Given the description of an element on the screen output the (x, y) to click on. 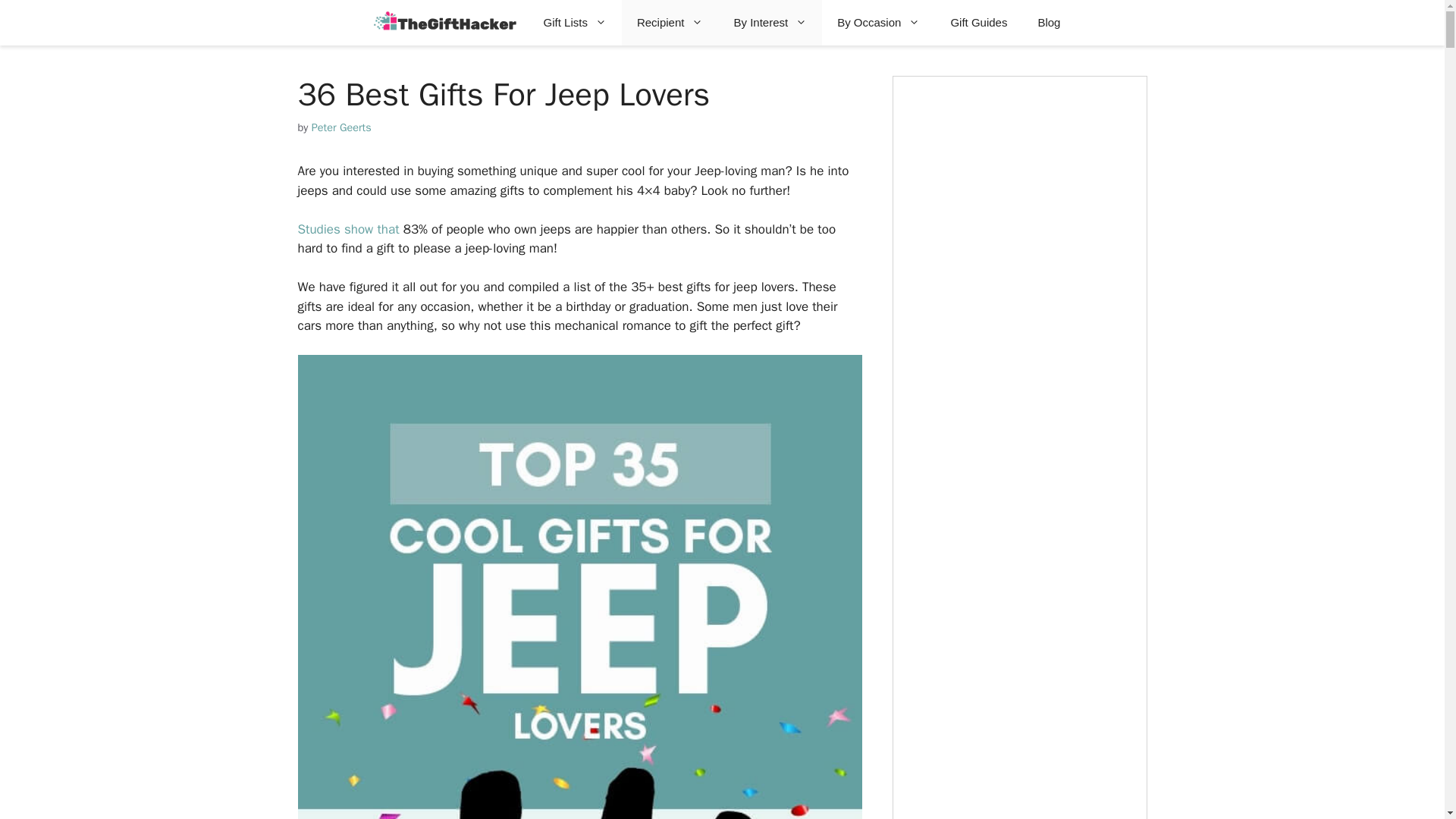
Gift Lists (574, 22)
View all posts by Peter Geerts (341, 127)
The Gift Hacker (445, 22)
Recipient (670, 22)
